Given the description of an element on the screen output the (x, y) to click on. 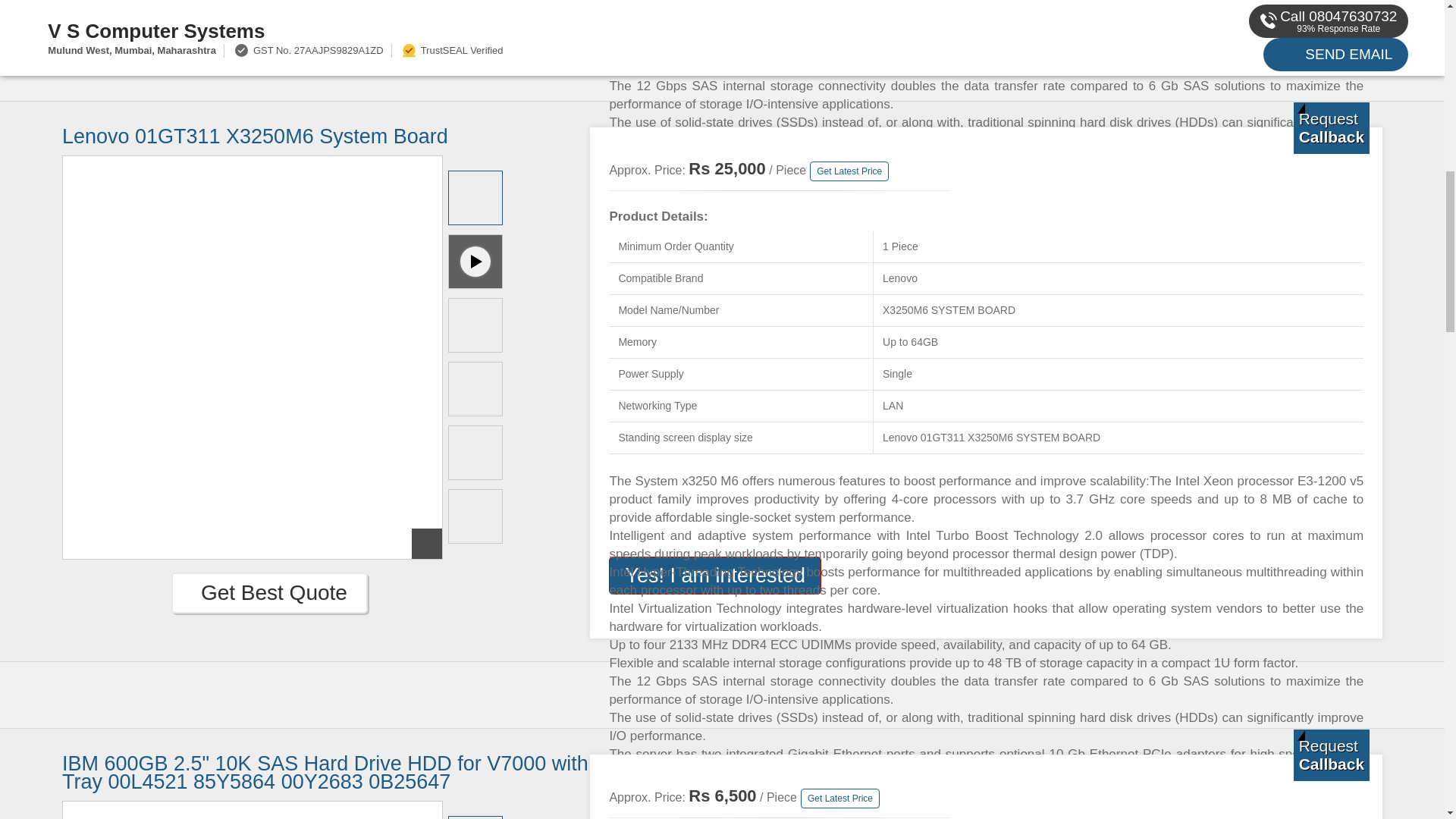
Get a Call from us (1332, 127)
Get a Call from us (1332, 755)
